Given the description of an element on the screen output the (x, y) to click on. 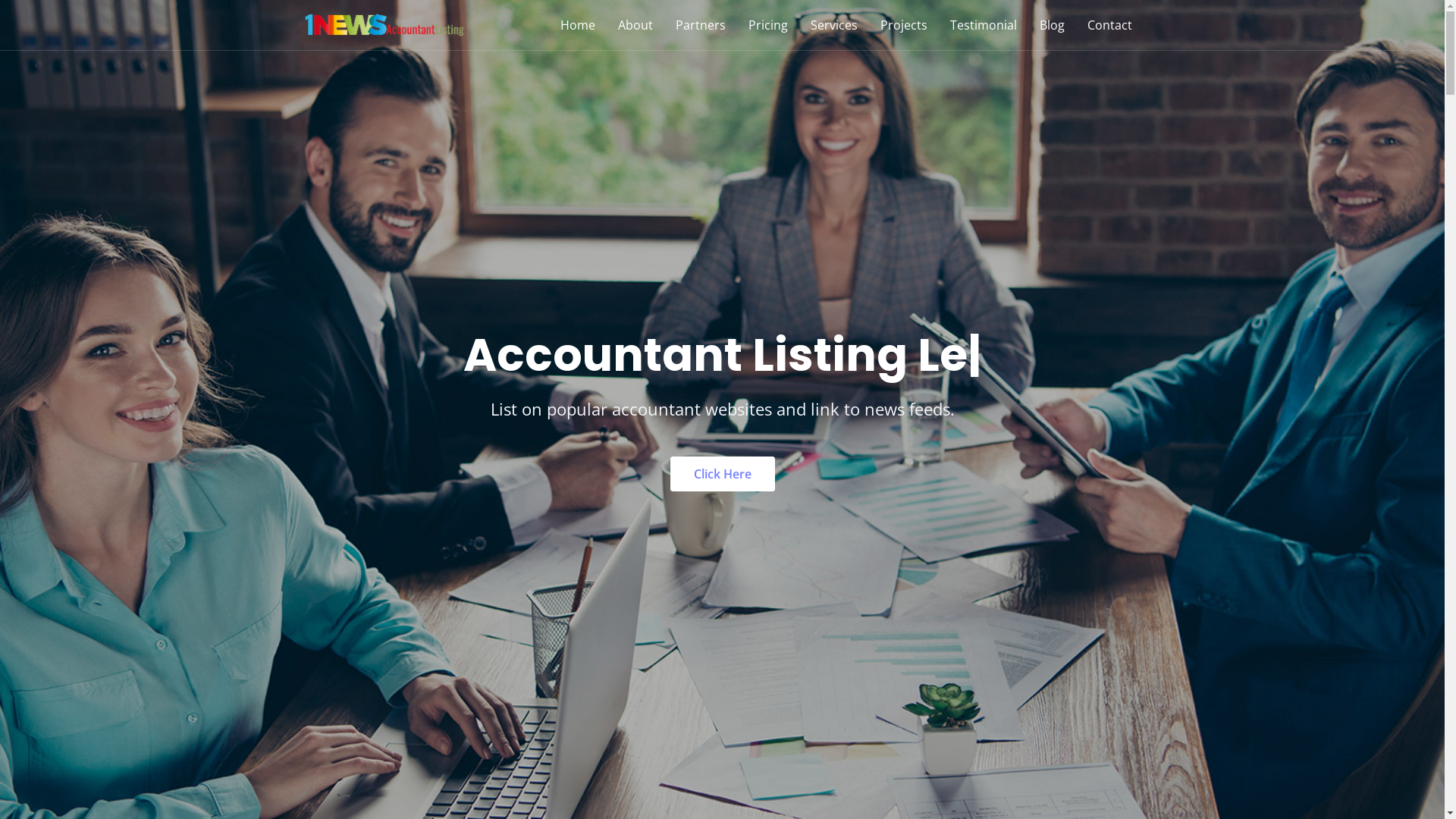
Blog Element type: text (1052, 25)
Services Element type: text (834, 25)
Pricing Element type: text (768, 25)
Click Here Element type: text (722, 473)
About Element type: text (635, 25)
Home Element type: text (577, 25)
Partners Element type: text (700, 25)
Contact Element type: text (1108, 25)
Testimonial Element type: text (983, 25)
Projects Element type: text (903, 25)
